Given the description of an element on the screen output the (x, y) to click on. 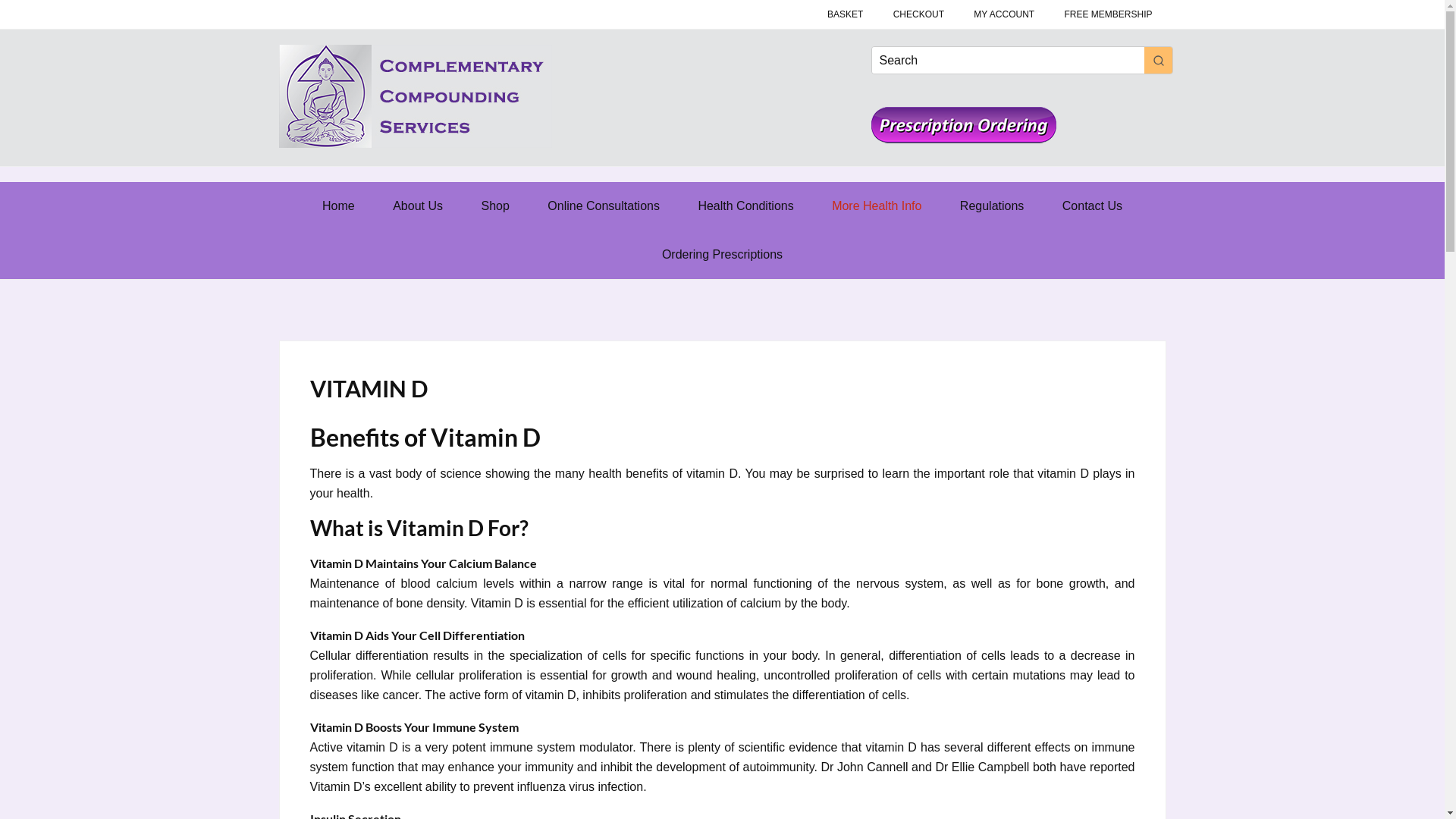
Contact Us Element type: text (1091, 206)
More Health Info Element type: text (876, 206)
FREE MEMBERSHIP Element type: text (1107, 14)
Shop Element type: text (494, 206)
Ordering Prescriptions Element type: text (722, 254)
MY ACCOUNT Element type: text (1004, 14)
    Element type: text (967, 138)
Health Conditions Element type: text (745, 206)
COMPLEMENTARY COMPOUNDING PHARMACY Element type: text (415, 95)
About Us Element type: text (417, 206)
CHECKOUT Element type: text (918, 14)
Online Consultations Element type: text (603, 206)
Regulations Element type: text (991, 206)
BASKET Element type: text (844, 14)
Home Element type: text (338, 206)
